Given the description of an element on the screen output the (x, y) to click on. 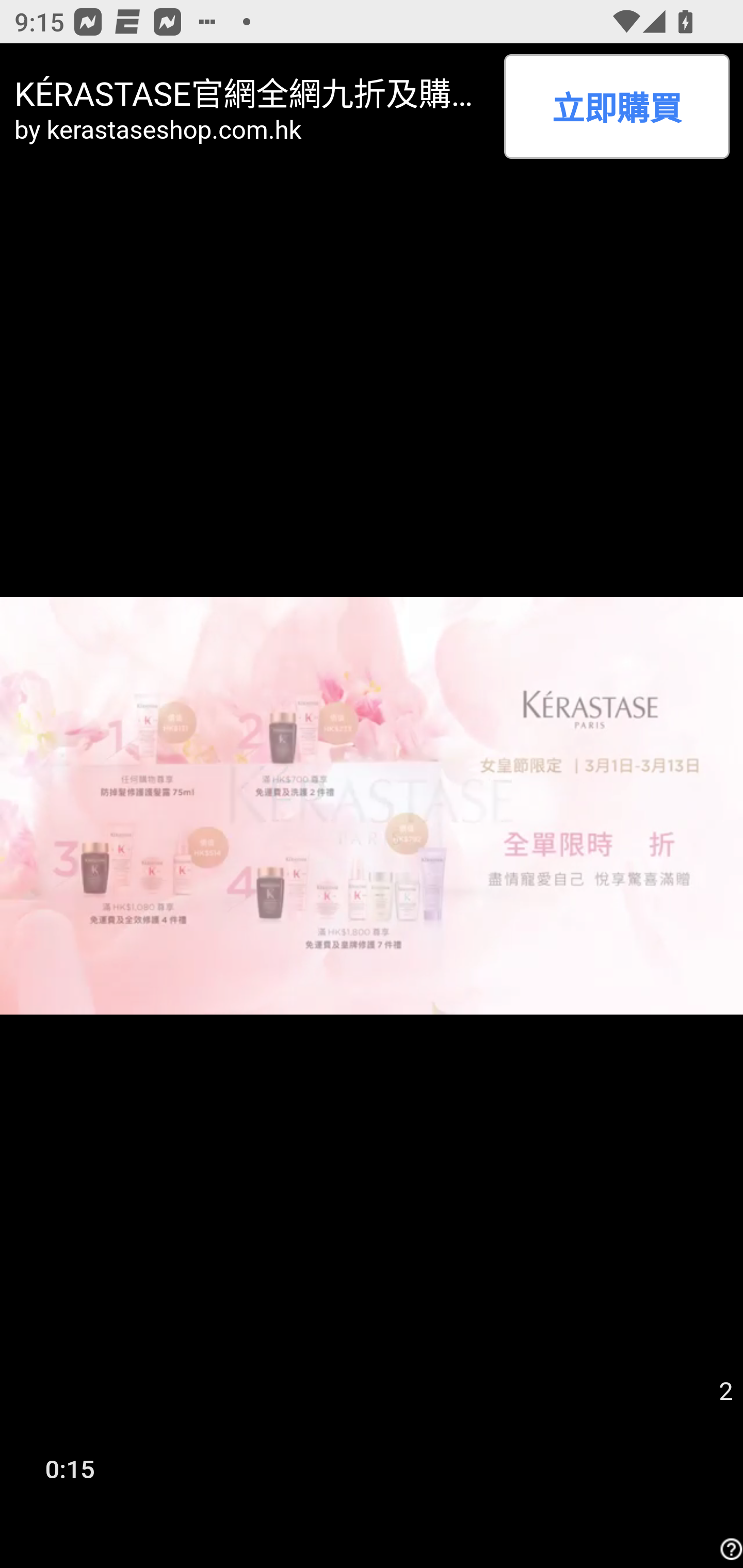
立即購買 (616, 106)
KÉRASTASE官網全網九折及購物禮 (252, 90)
by kerastaseshop.com.hk (252, 128)
Skip Ad Countdown (725, 1391)
0:15 (70, 1468)
help_outline_white_24dp_with_3px_trbl_padding (728, 1548)
